Given the description of an element on the screen output the (x, y) to click on. 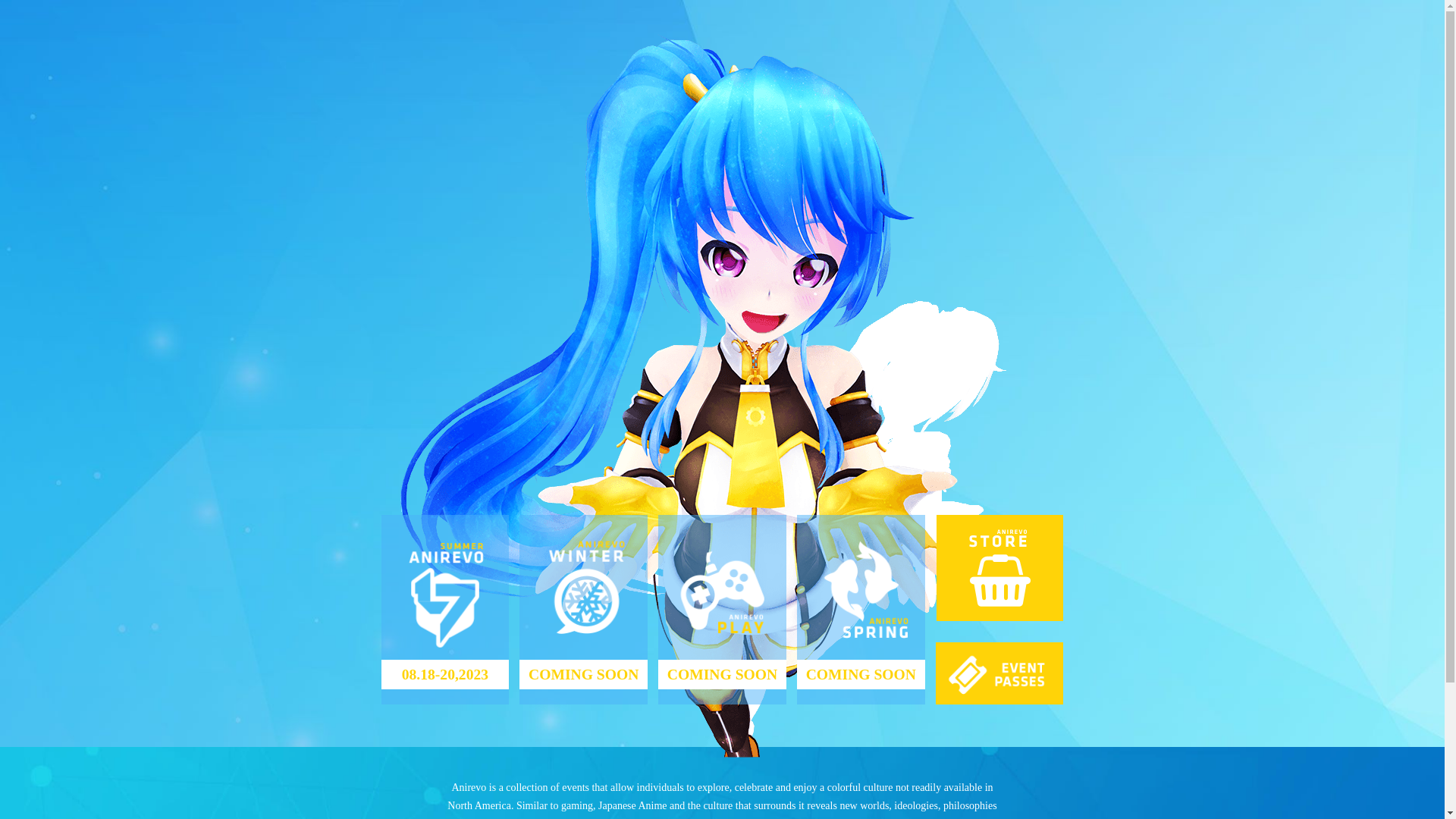
08.18-20,2023 Element type: text (444, 609)
COMING SOON Element type: text (583, 609)
COMING SOON Element type: text (722, 609)
COMING SOON Element type: text (861, 609)
